Given the description of an element on the screen output the (x, y) to click on. 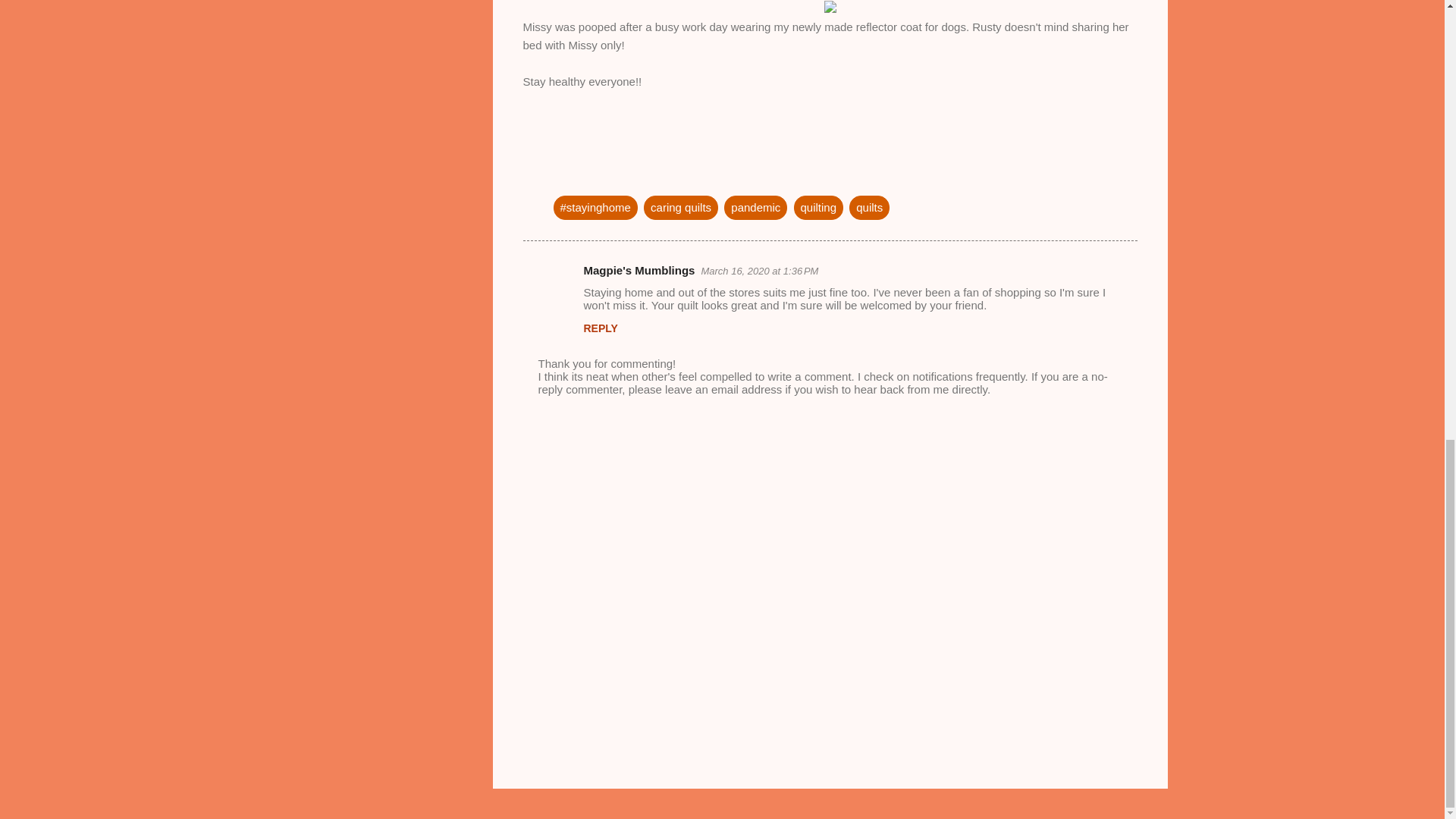
Magpie's Mumblings (639, 269)
REPLY (600, 328)
pandemic (755, 206)
quilts (868, 206)
quilting (818, 206)
caring quilts (680, 206)
